Given the description of an element on the screen output the (x, y) to click on. 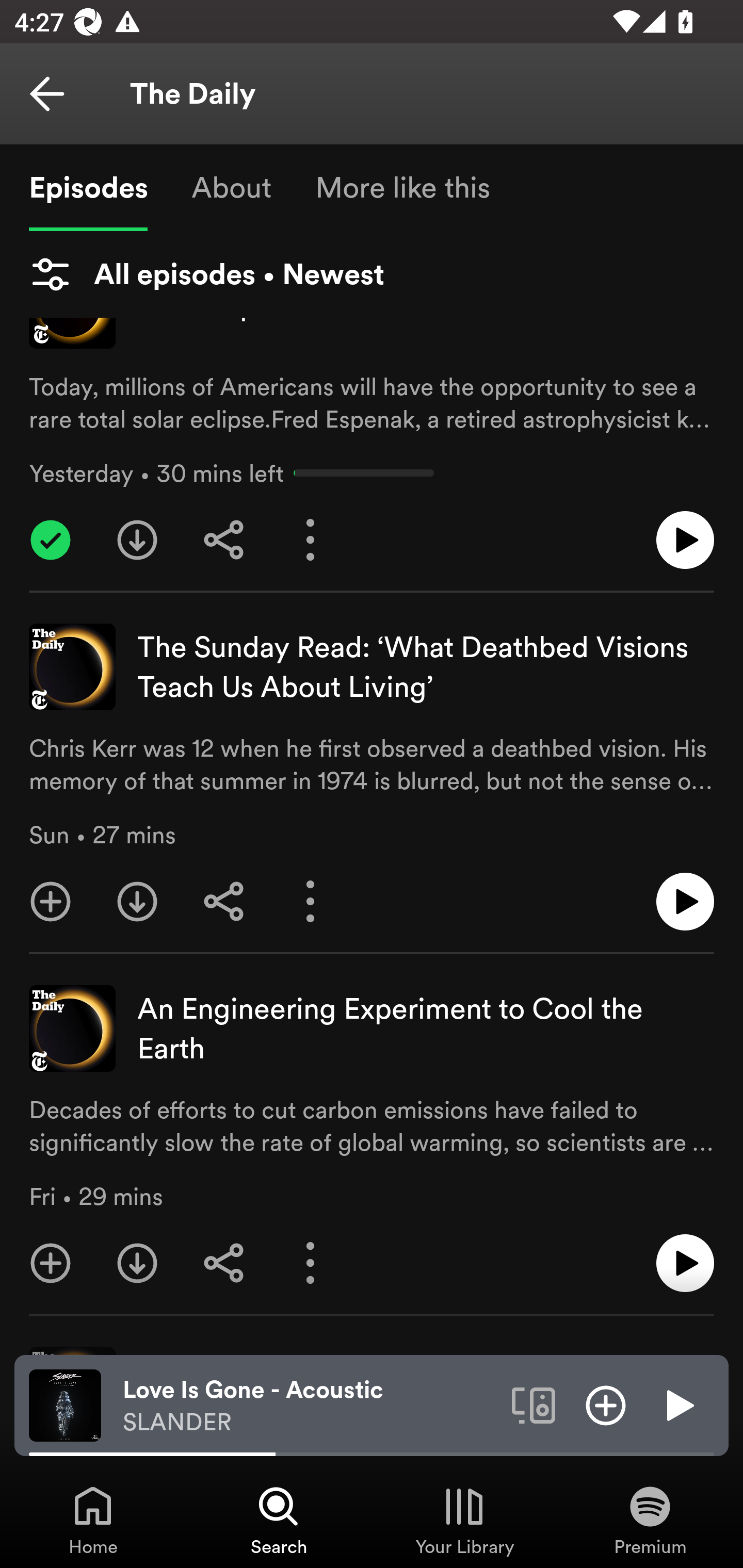
Back (46, 93)
About (231, 187)
More like this (402, 187)
All episodes • Newest (206, 274)
The Eclipse Chaser added to Your Episodes (50, 540)
Download episode: The Eclipse Chaser (136, 540)
Share (223, 540)
More options for episode The Eclipse Chaser (310, 540)
Play episode: The Eclipse Chaser (684, 540)
Share (223, 901)
Share (223, 1262)
Love Is Gone - Acoustic SLANDER (309, 1405)
The cover art of the currently playing track (64, 1404)
Connect to a device. Opens the devices menu (533, 1404)
Add item (605, 1404)
Play (677, 1404)
Home, Tab 1 of 4 Home Home (92, 1519)
Search, Tab 2 of 4 Search Search (278, 1519)
Your Library, Tab 3 of 4 Your Library Your Library (464, 1519)
Premium, Tab 4 of 4 Premium Premium (650, 1519)
